Given the description of an element on the screen output the (x, y) to click on. 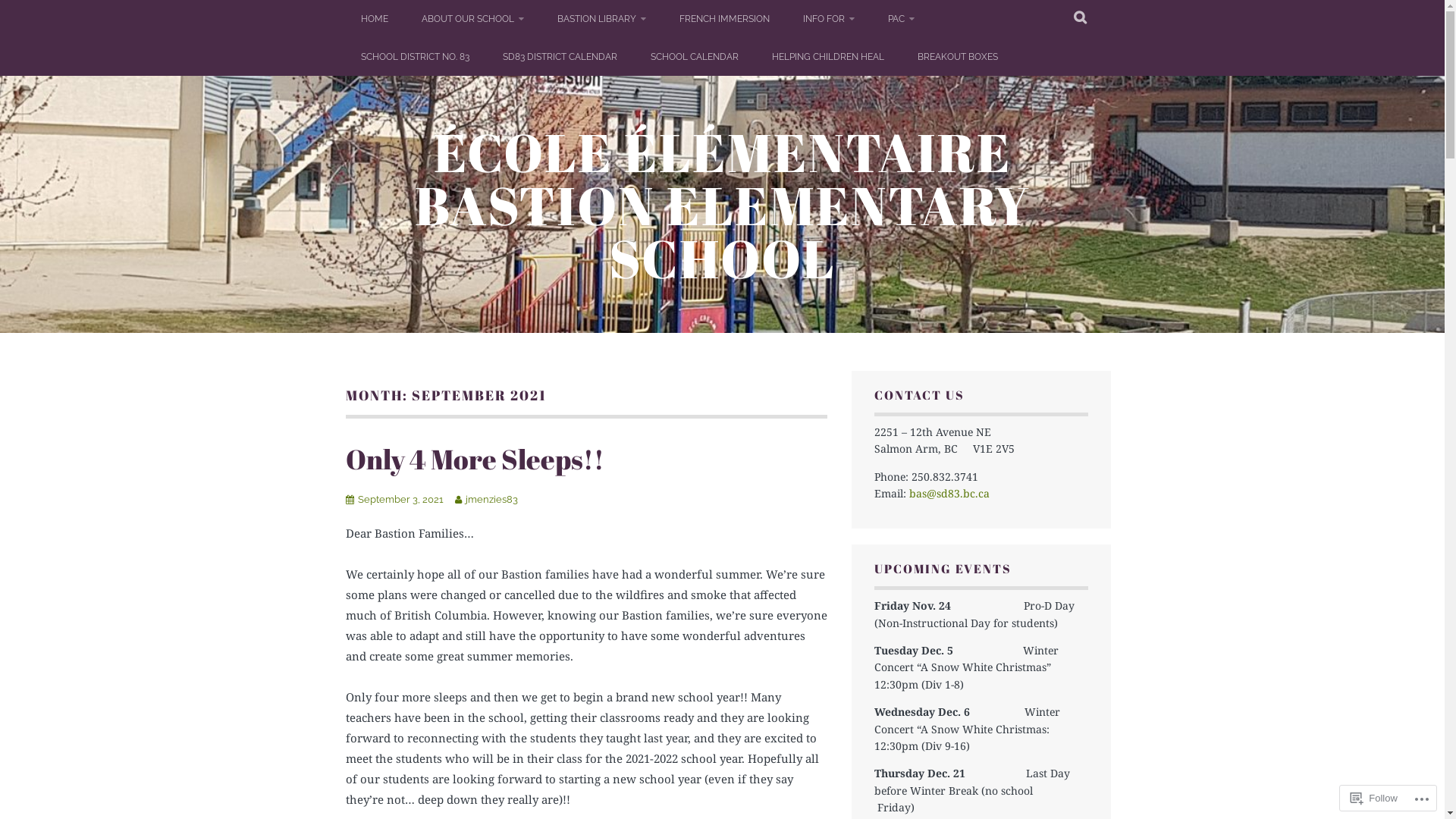
FRENCH IMMERSION Element type: text (724, 18)
ABOUT OUR SCHOOL Element type: text (472, 18)
BREAKOUT BOXES Element type: text (957, 56)
SCHOOL DISTRICT NO. 83 Element type: text (414, 56)
Follow Element type: text (1373, 797)
HOME Element type: text (374, 18)
jmenzies83 Element type: text (491, 499)
September 3, 2021 Element type: text (400, 499)
SCHOOL CALENDAR Element type: text (694, 56)
SD83 DISTRICT CALENDAR Element type: text (558, 56)
PAC Element type: text (900, 18)
INFO FOR Element type: text (828, 18)
Only 4 More Sleeps!! Element type: text (474, 458)
HELPING CHILDREN HEAL Element type: text (827, 56)
BASTION LIBRARY Element type: text (600, 18)
bas@sd83.bc.ca Element type: text (949, 493)
